Given the description of an element on the screen output the (x, y) to click on. 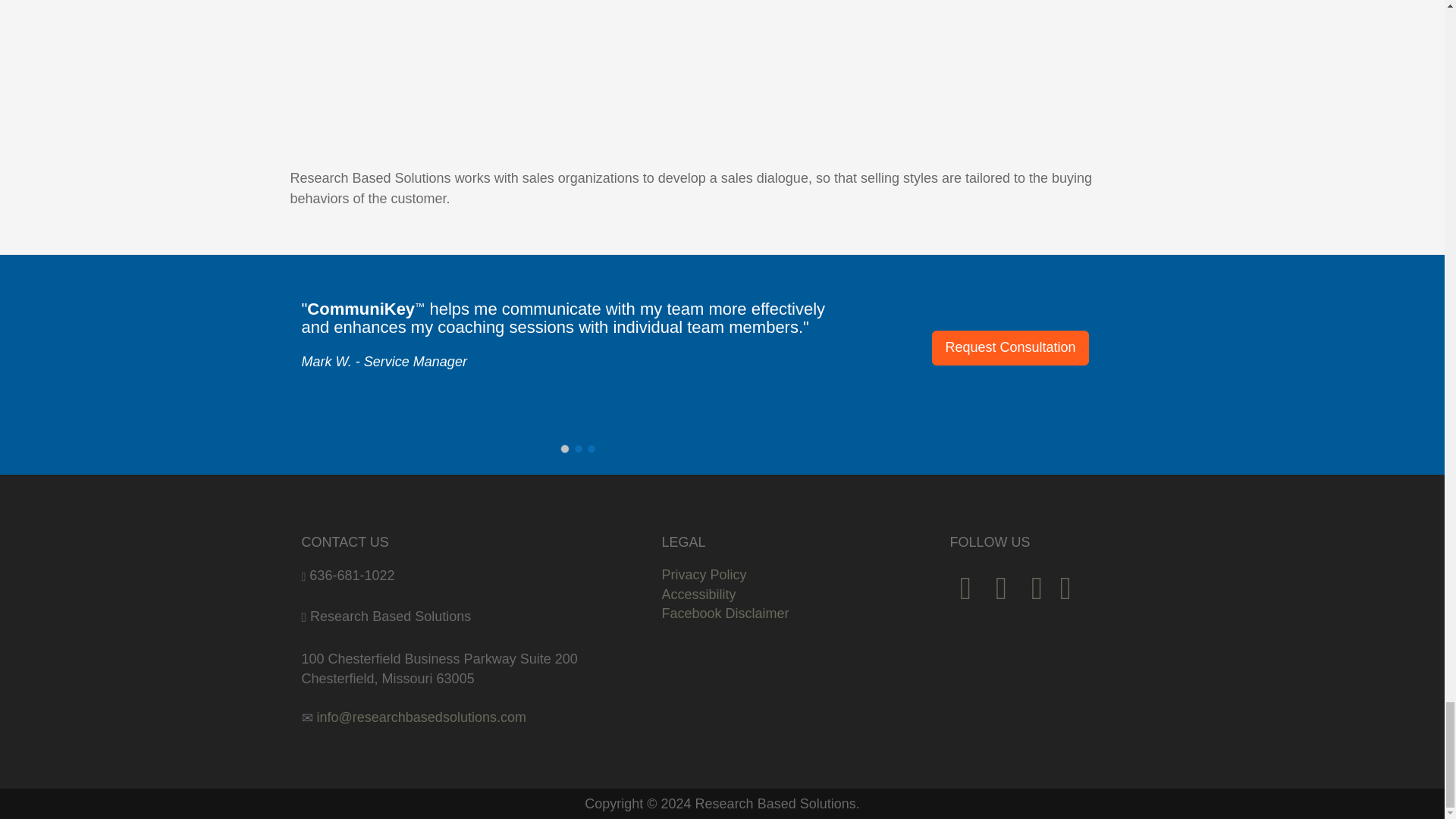
Request Consultation (1009, 347)
Facebook Disclaimer (725, 613)
Privacy Policy (703, 574)
Accessibility (698, 594)
